Given the description of an element on the screen output the (x, y) to click on. 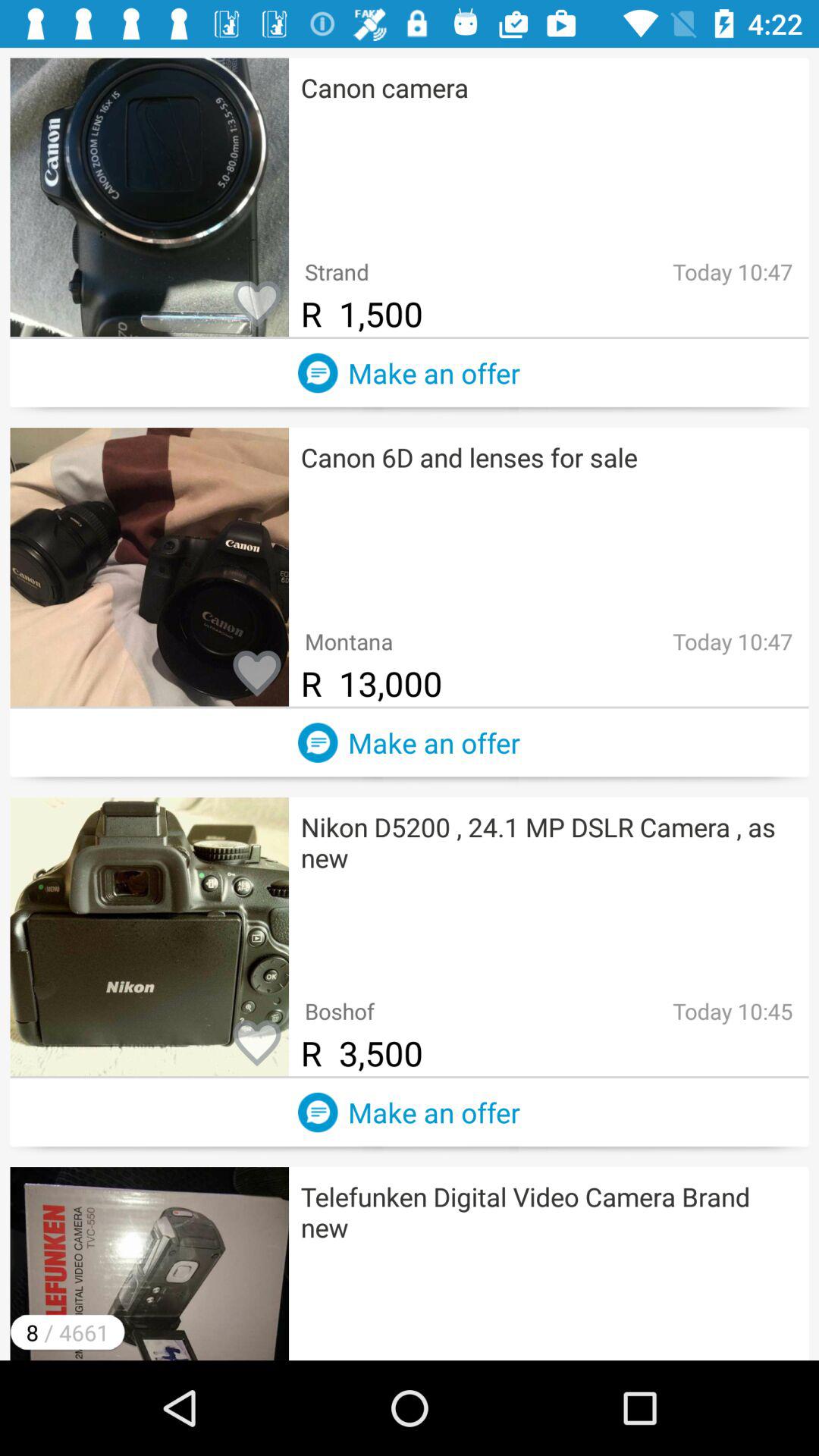
add item to favorites (256, 304)
